Given the description of an element on the screen output the (x, y) to click on. 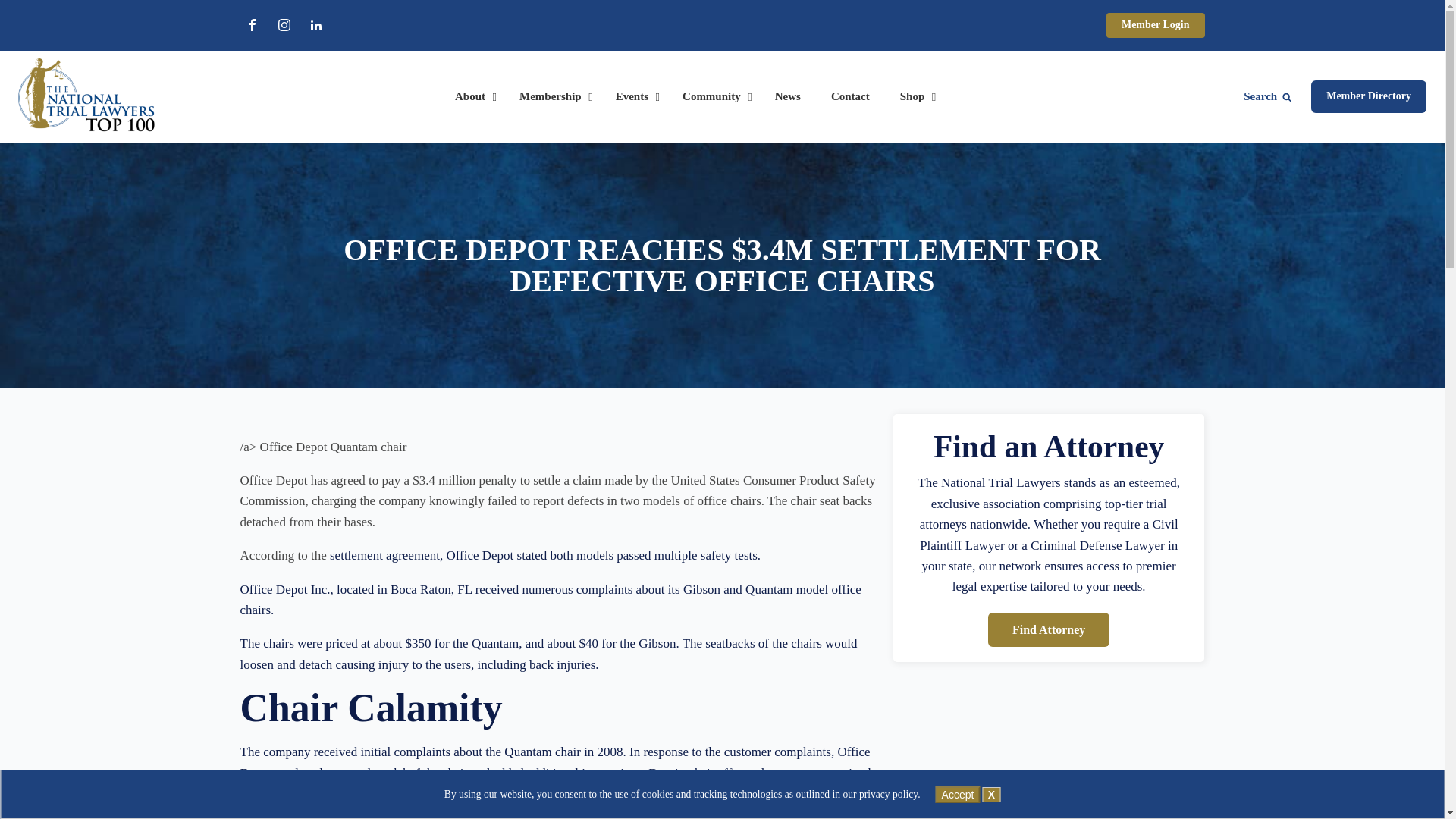
Membership (551, 96)
Accept (957, 794)
X (991, 794)
Member Login (1155, 25)
About (471, 96)
